Given the description of an element on the screen output the (x, y) to click on. 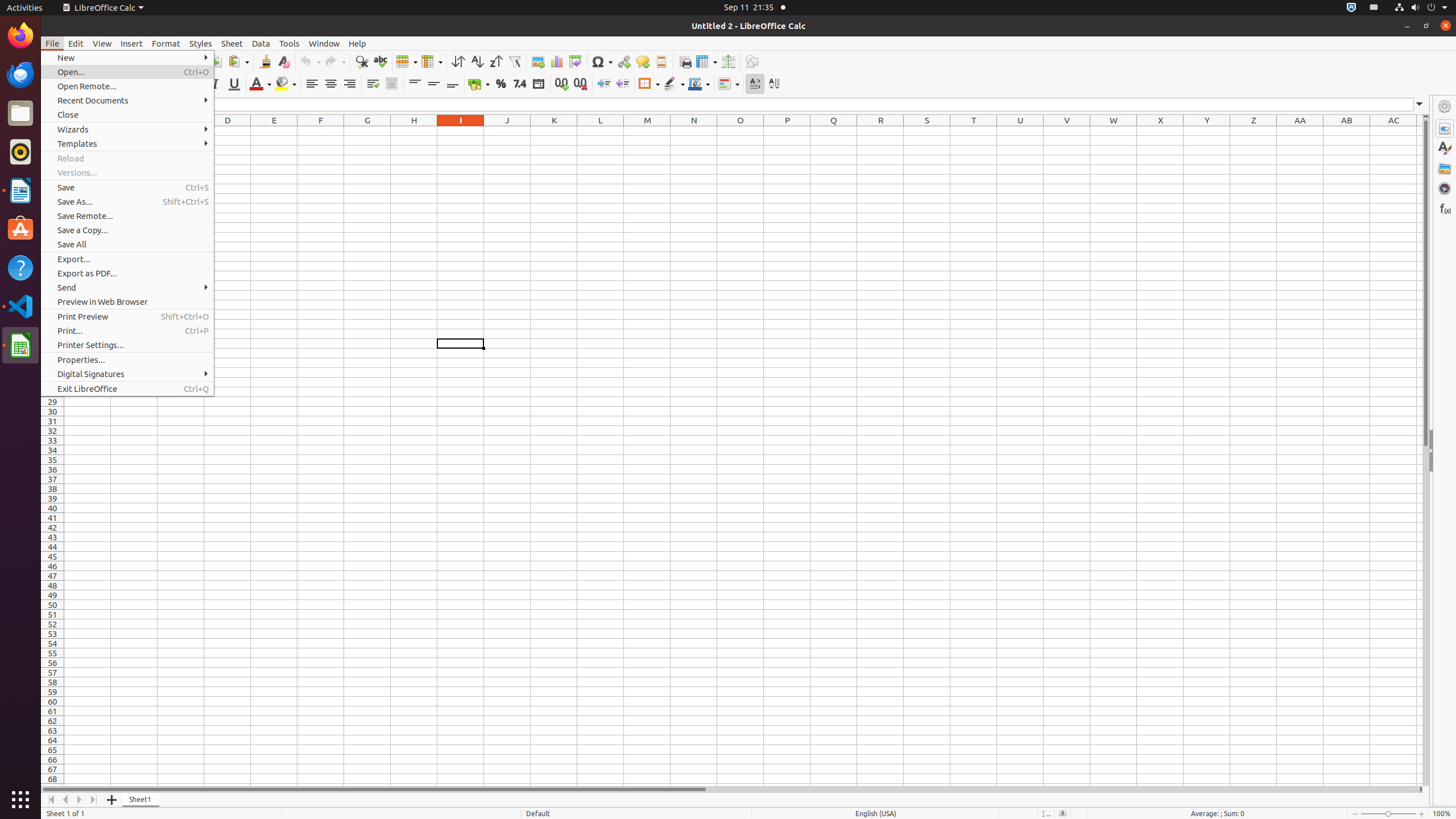
Comment Element type: push-button (642, 61)
Properties Element type: panel (1444, 450)
Vertical scroll bar Element type: scroll-bar (1425, 451)
Underline Element type: push-button (233, 83)
Save Element type: menu-item (126, 187)
